Given the description of an element on the screen output the (x, y) to click on. 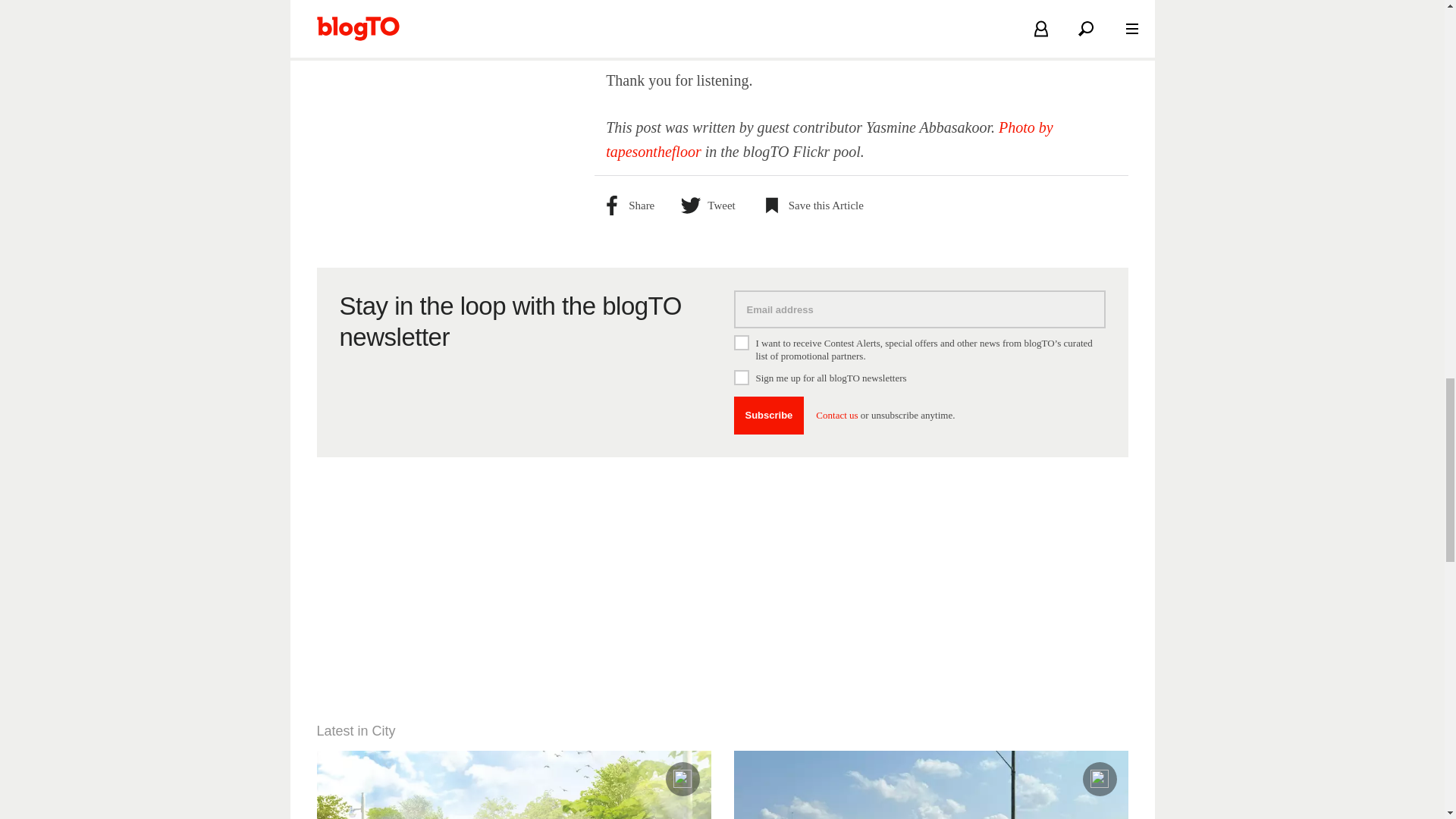
Subscribe (769, 415)
